Given the description of an element on the screen output the (x, y) to click on. 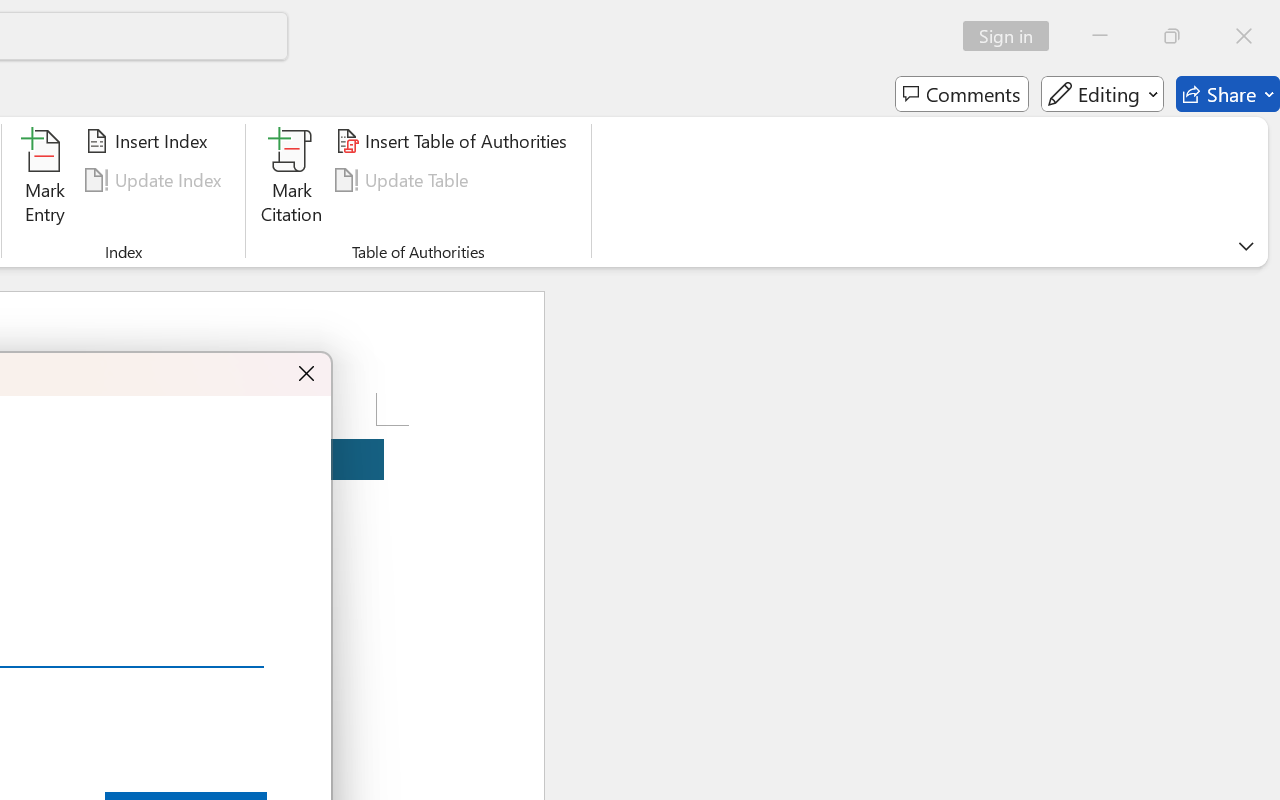
Mark Entry... (44, 179)
Mark Citation... (292, 179)
Update Index (156, 179)
Update Table (404, 179)
Insert Index... (149, 141)
Editing (1101, 94)
Sign in (1012, 35)
Insert Table of Authorities... (453, 141)
